Given the description of an element on the screen output the (x, y) to click on. 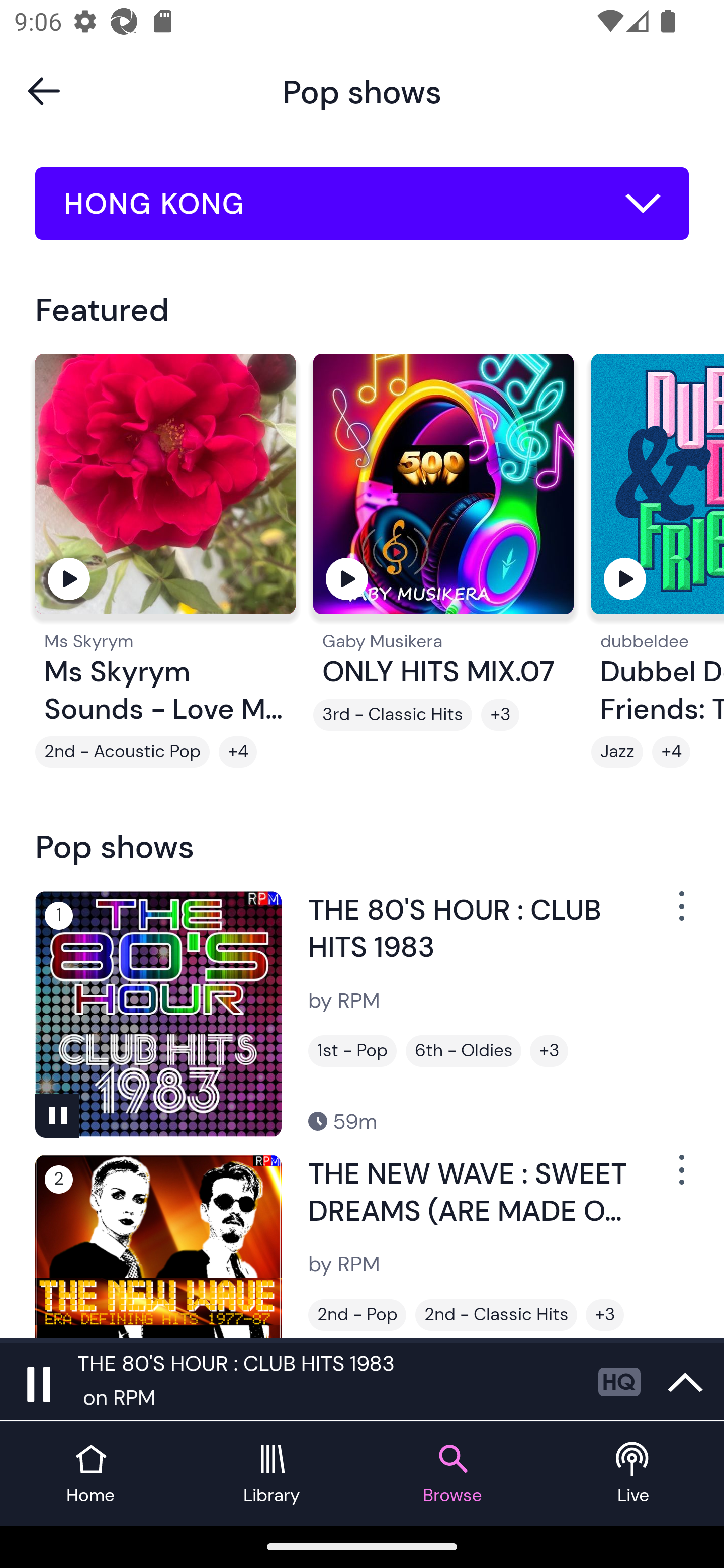
HONG KONG (361, 203)
3rd - Classic Hits (392, 714)
2nd - Acoustic Pop (122, 752)
Jazz (616, 752)
Show Options Menu Button (679, 913)
1st - Pop (352, 1050)
6th - Oldies (463, 1050)
Show Options Menu Button (679, 1178)
2nd - Pop (357, 1315)
2nd - Classic Hits (496, 1315)
Home tab Home (90, 1473)
Library tab Library (271, 1473)
Browse tab Browse (452, 1473)
Live tab Live (633, 1473)
